Given the description of an element on the screen output the (x, y) to click on. 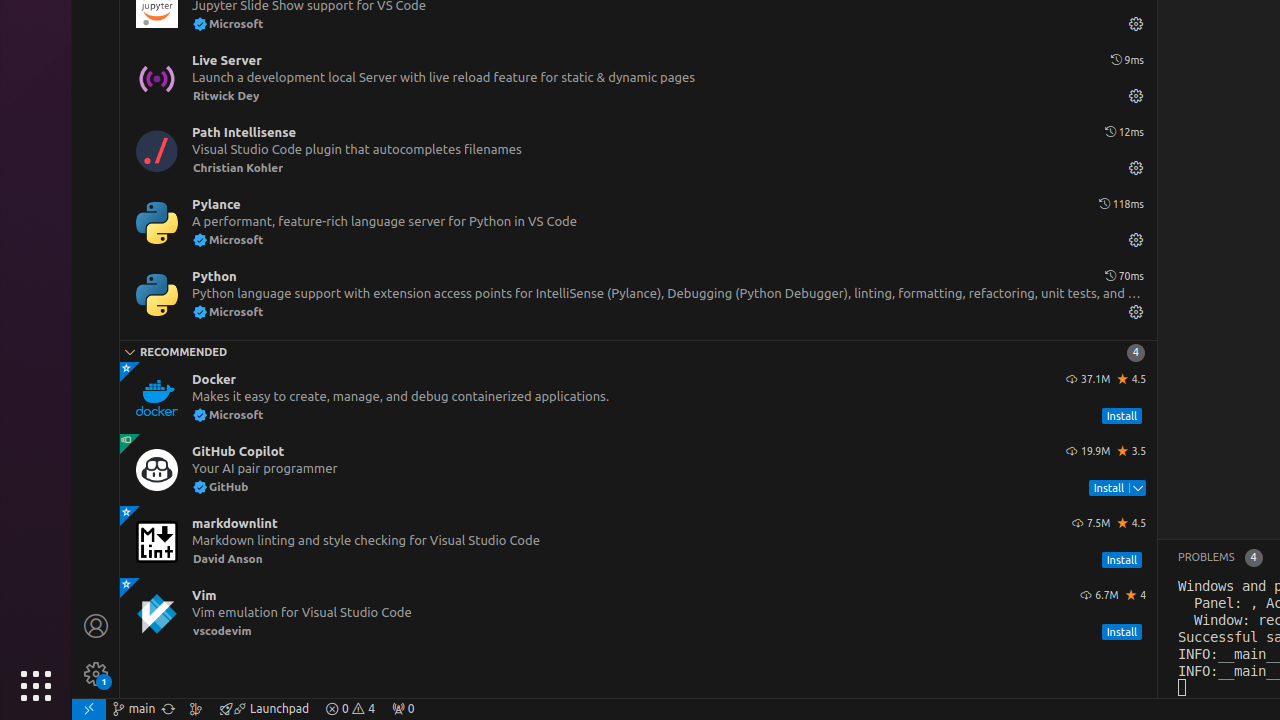
Pylance, 2024.9.1, Verified Publisher Microsoft, A performant, feature-rich language server for Python in VS Code , Rated 3.09 out of 5 stars by 233 users Element type: list-item (638, 223)
Docker, 1.29.2, Verified Publisher Microsoft, Makes it easy to create, manage, and debug containerized applications. , Rated 4.62 out of 5 stars by 94 users Element type: list-item (638, 398)
GitHub Copilot, 1.229.0, Verified Publisher GitHub, Your AI pair programmer , Rated 3.65 out of 5 stars by 1071 users Element type: list-item (638, 469)
OSWorld (Git) - main, Checkout Branch/Tag... Element type: push-button (134, 709)
Python, 2024.14.0, Verified Publisher Microsoft, Python language support with extension access points for IntelliSense (Pylance), Debugging (Python Debugger), linting, formatting, refactoring, unit tests, and more. , Rated 4.21 out of 5 stars by 597 users Element type: list-item (638, 295)
